Given the description of an element on the screen output the (x, y) to click on. 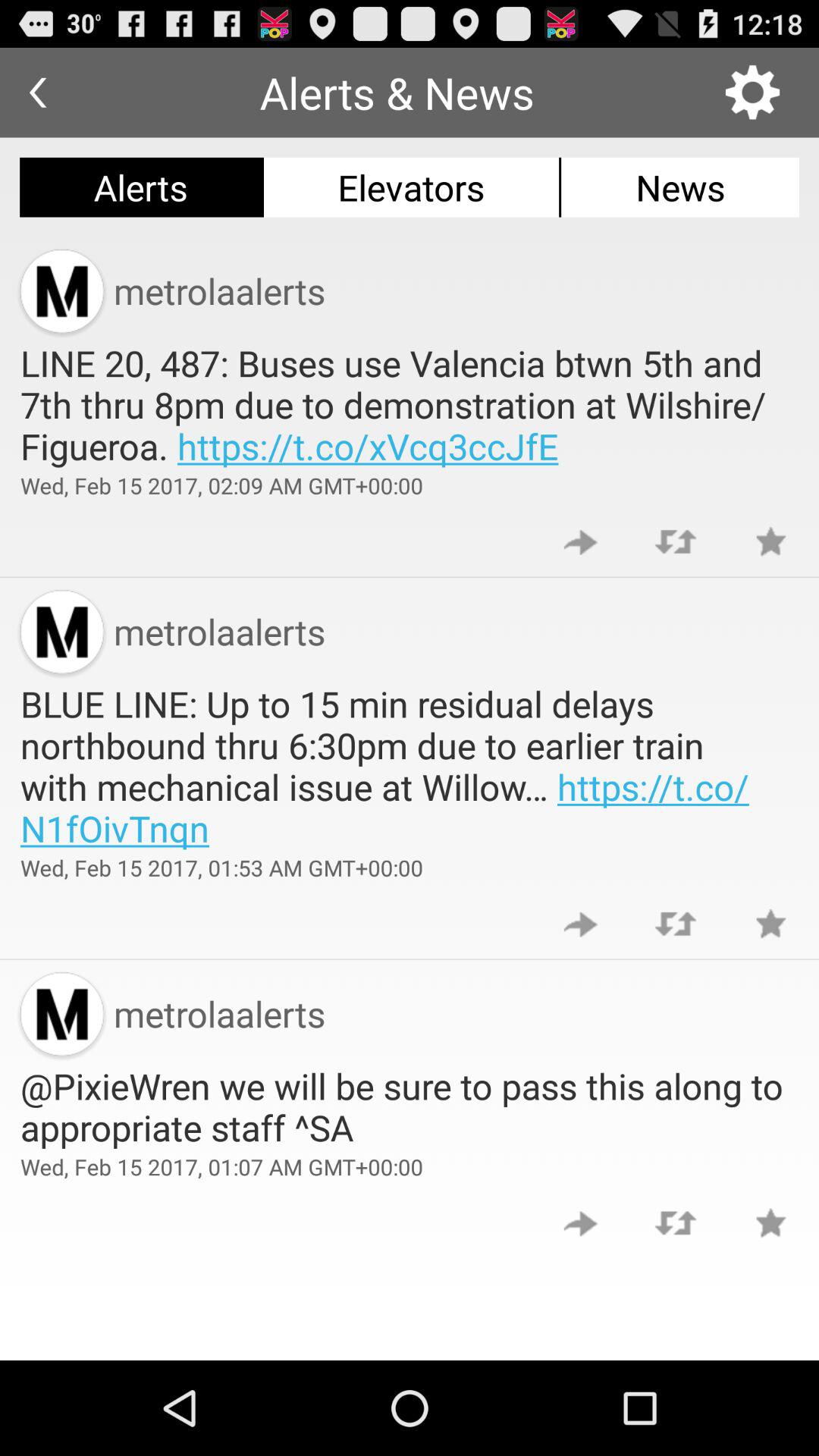
turn off the elevators (411, 187)
